Given the description of an element on the screen output the (x, y) to click on. 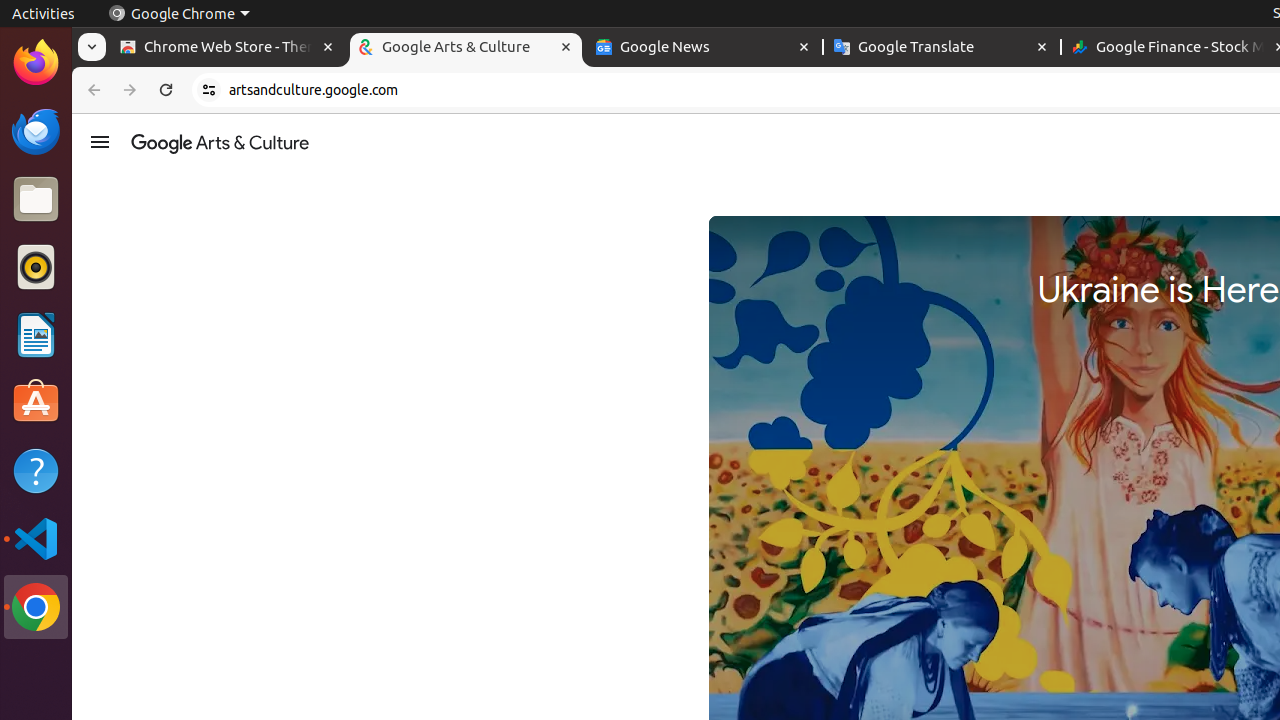
Ubuntu Software Element type: push-button (36, 402)
LibreOffice Writer Element type: push-button (36, 334)
Google Chrome Element type: menu (179, 13)
View site information Element type: push-button (209, 90)
Menu Element type: push-button (100, 142)
